Given the description of an element on the screen output the (x, y) to click on. 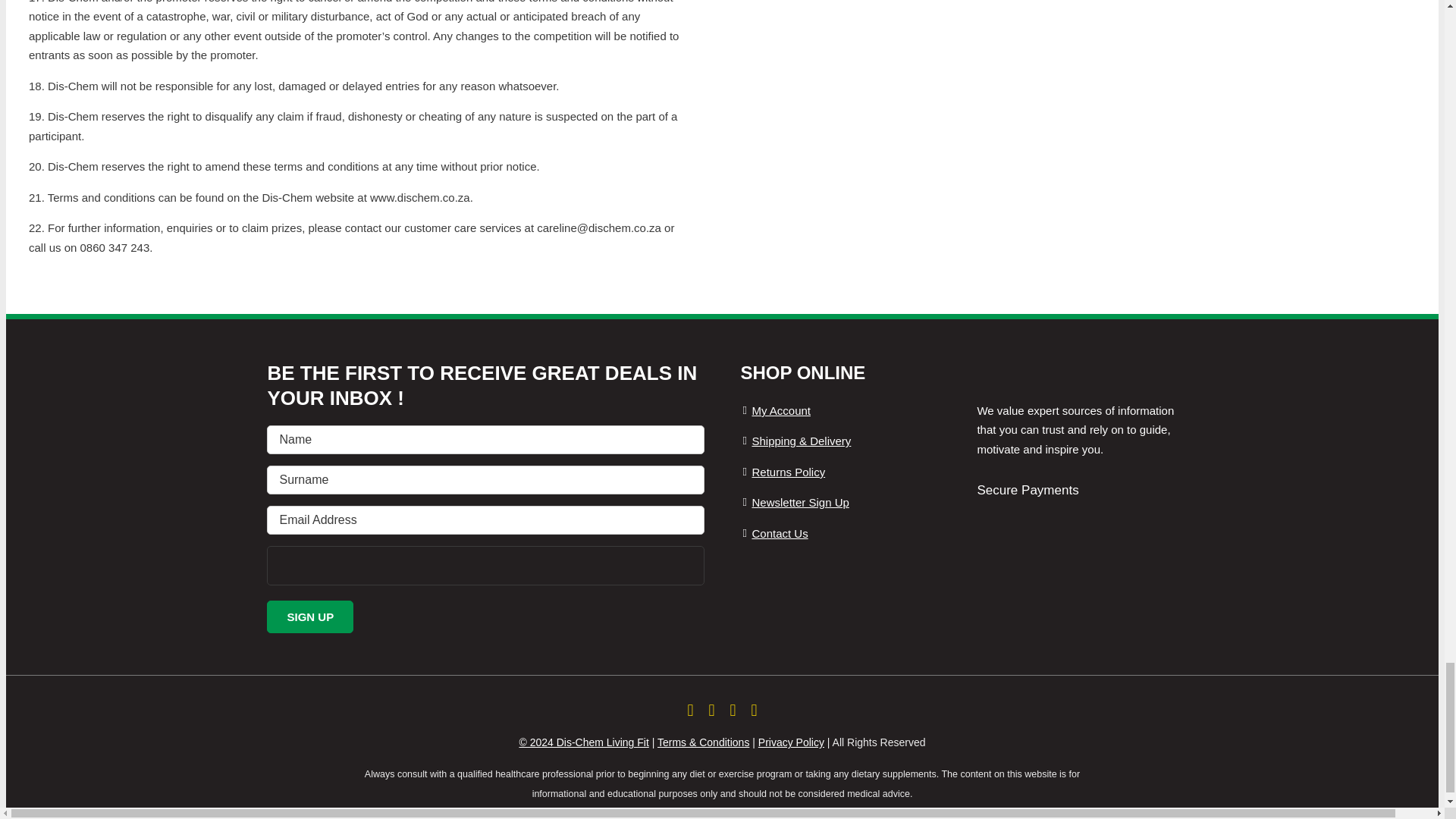
Sign Up (309, 616)
